Given the description of an element on the screen output the (x, y) to click on. 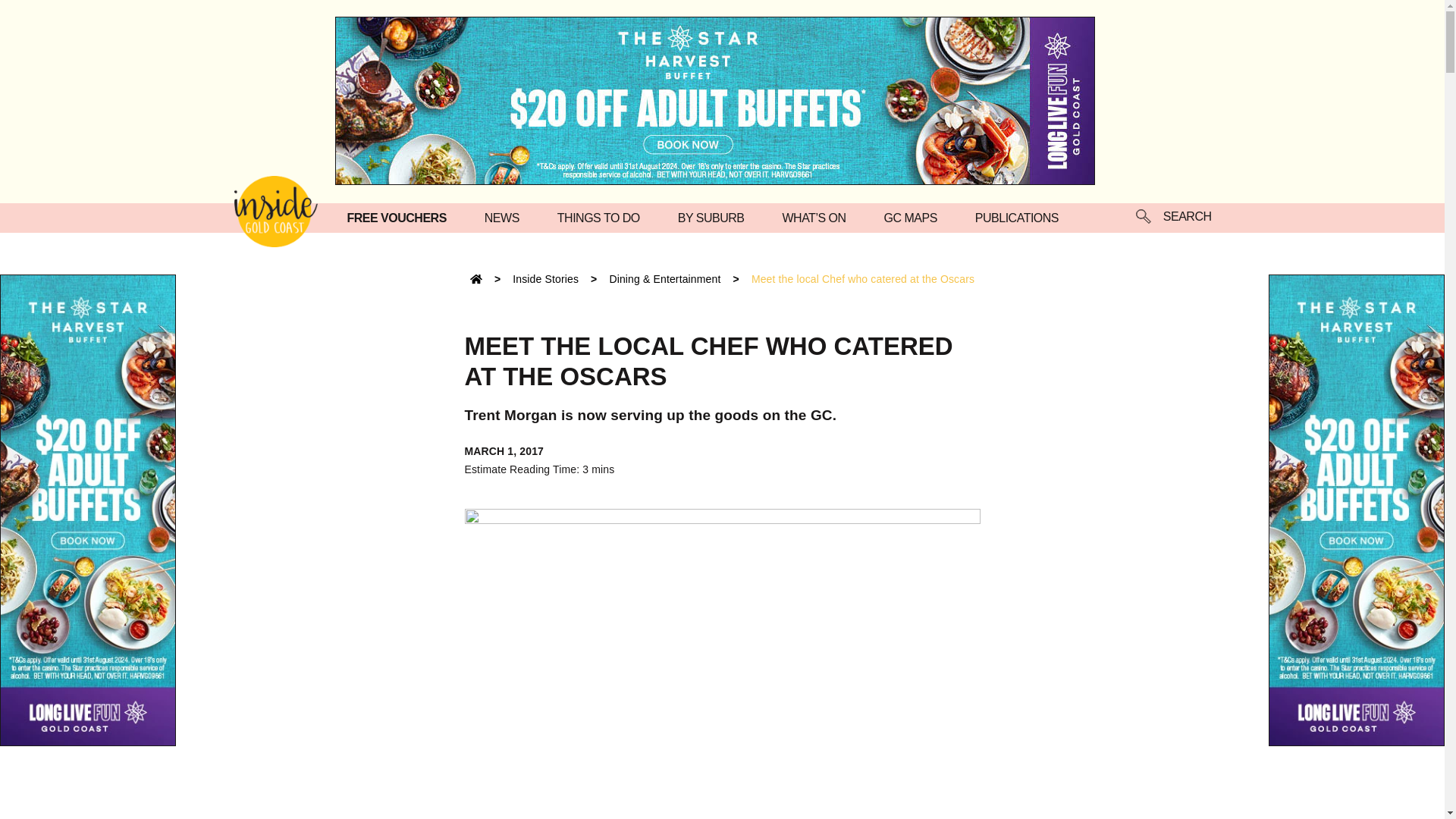
FREE VOUCHERS (400, 217)
SEARCH (1173, 217)
BY SUBURB (715, 217)
NEWS (505, 217)
PUBLICATIONS (1020, 217)
Inside Stories (545, 278)
THINGS TO DO (602, 217)
GC MAPS (913, 217)
